Given the description of an element on the screen output the (x, y) to click on. 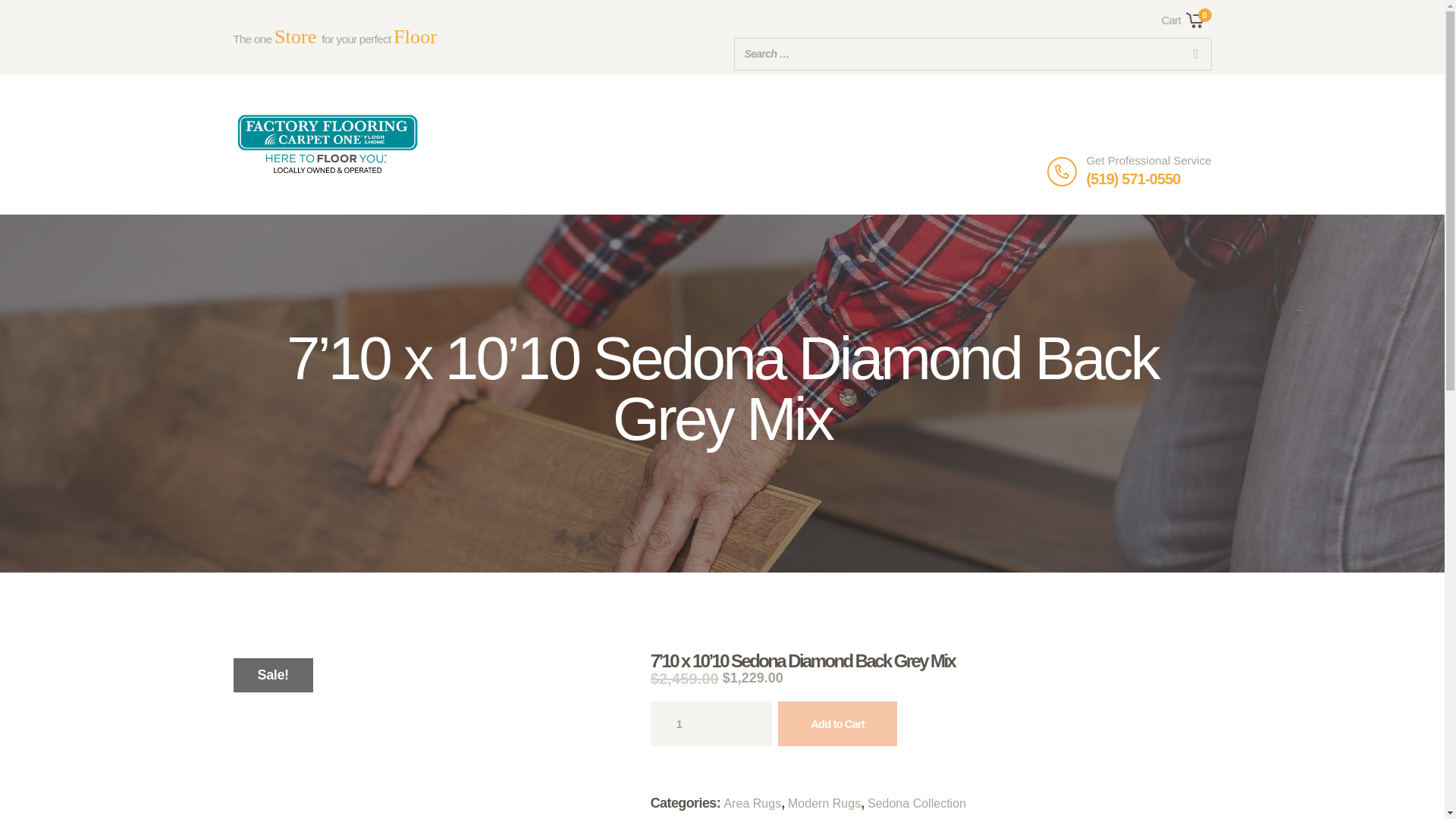
1 (710, 723)
